Given the description of an element on the screen output the (x, y) to click on. 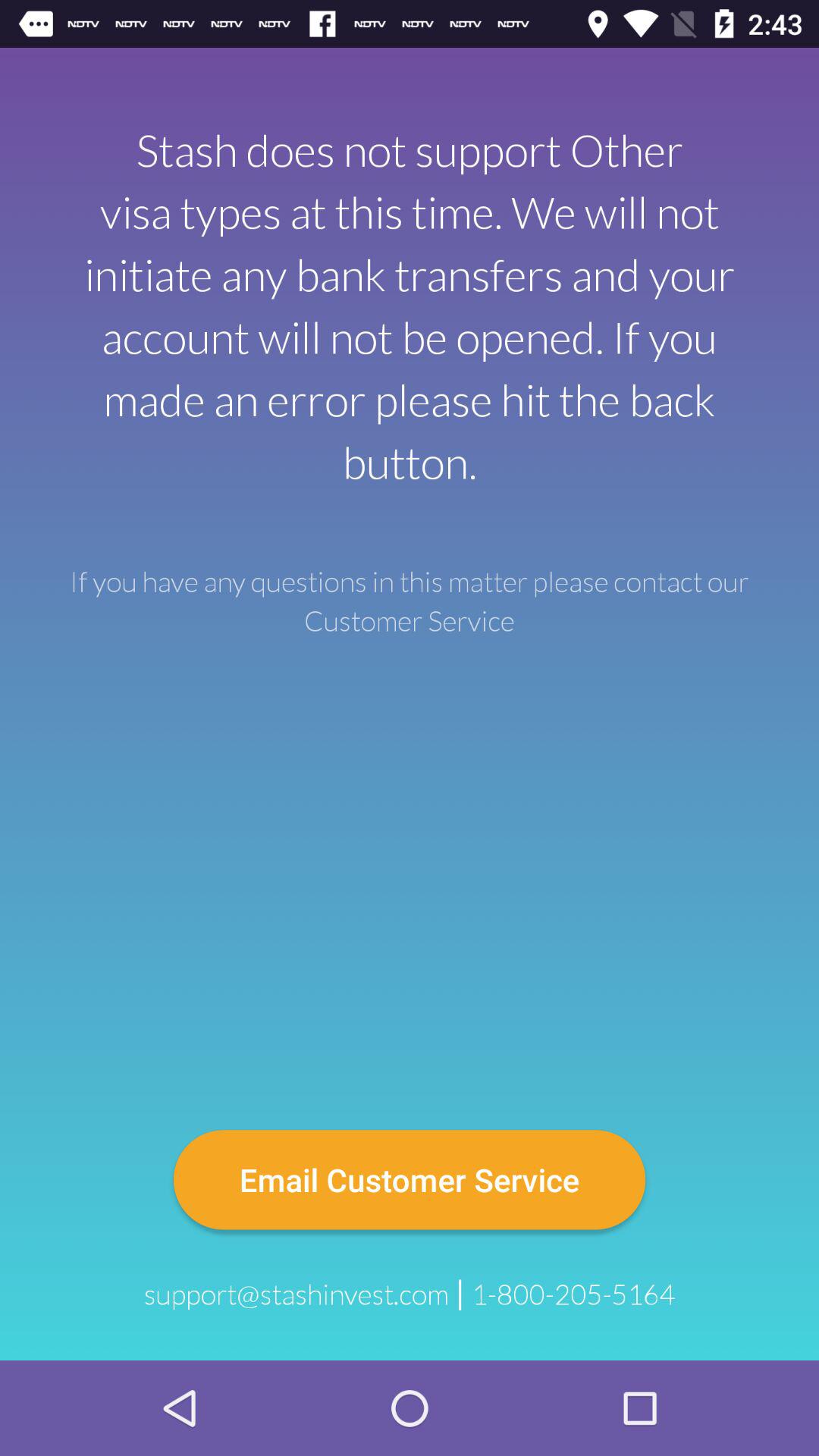
turn off icon at the bottom right corner (573, 1294)
